Given the description of an element on the screen output the (x, y) to click on. 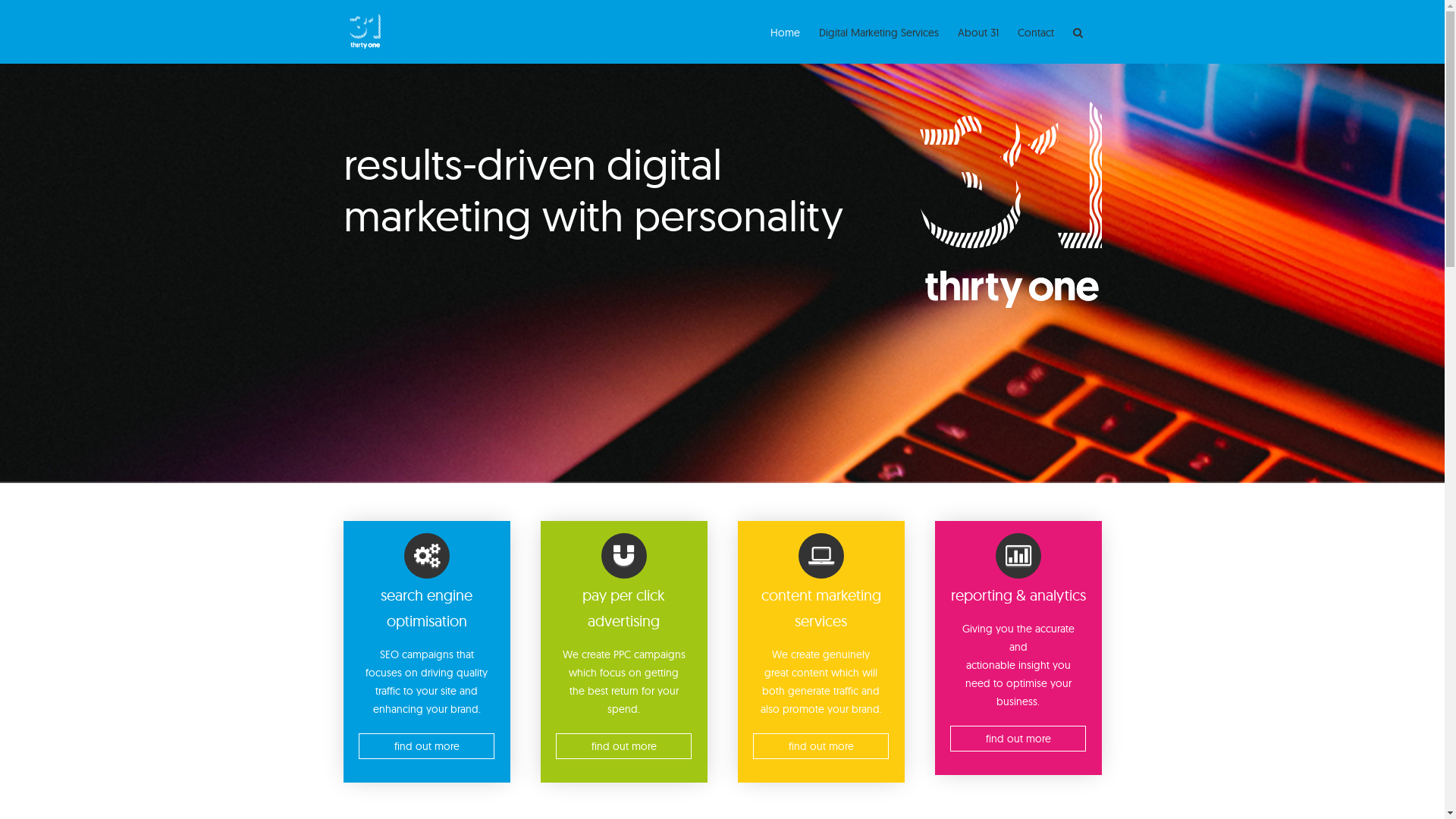
find out more Element type: text (426, 746)
find out more Element type: text (623, 746)
Digital Marketing Services Element type: text (878, 31)
find out more Element type: text (1017, 738)
SEO Element type: text (388, 654)
content Element type: text (809, 672)
Search Element type: hover (1077, 31)
About 31 Element type: text (977, 31)
PPC Element type: text (621, 654)
insight Element type: text (1032, 664)
Home Element type: text (785, 31)
find out more Element type: text (820, 746)
Contact Element type: text (1035, 31)
